Given the description of an element on the screen output the (x, y) to click on. 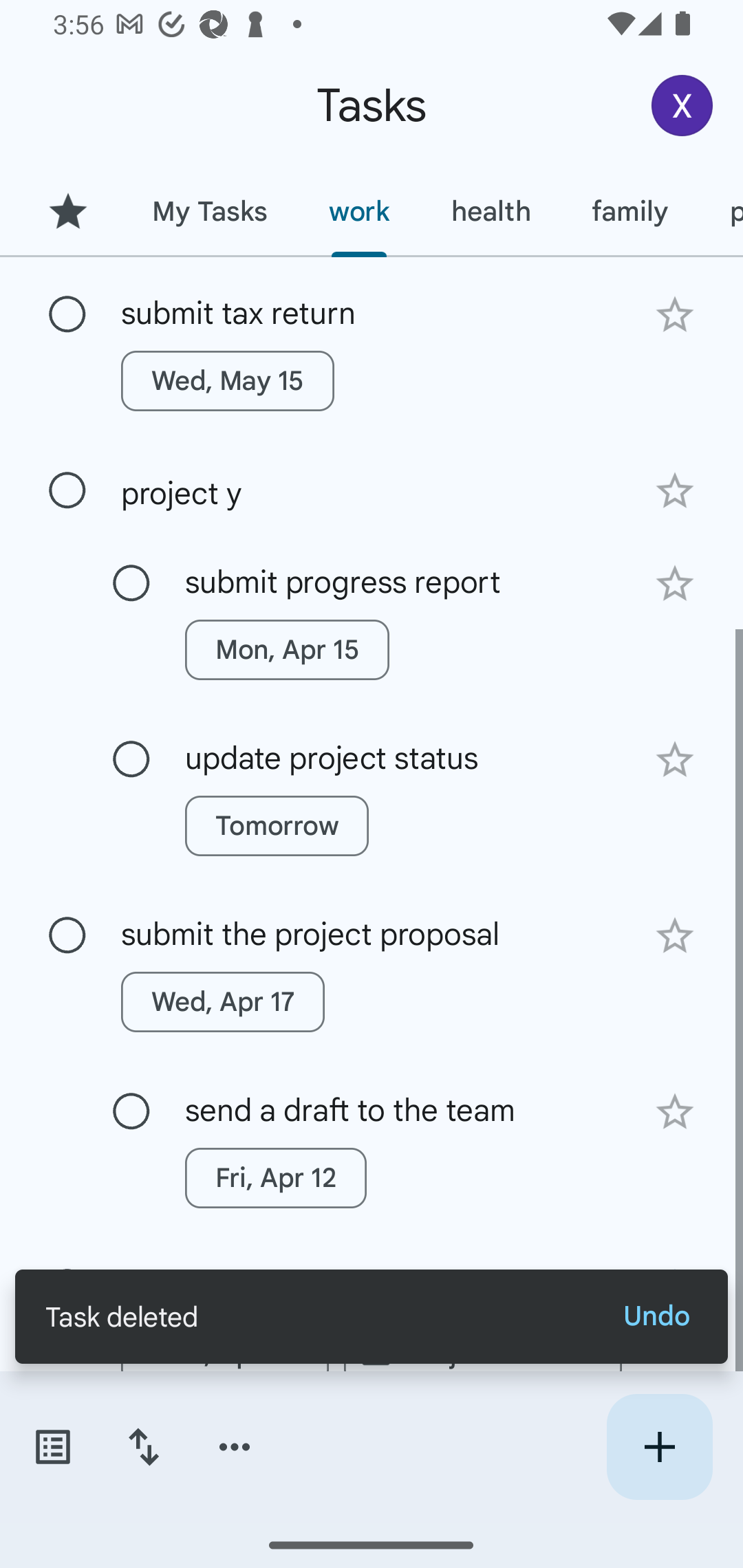
Starred (67, 211)
My Tasks (209, 211)
health (490, 211)
family (629, 211)
Add star (674, 314)
Mark as complete (67, 314)
Wed, May 15 (227, 380)
Add star (674, 490)
Mark as complete (67, 491)
Add star (674, 582)
Mark as complete (131, 583)
Mon, Apr 15 (287, 649)
Add star (674, 760)
Mark as complete (131, 759)
Tomorrow (276, 825)
Add star (674, 935)
Mark as complete (67, 935)
Wed, Apr 17 (222, 1001)
Add star (674, 1111)
Mark as complete (131, 1112)
Fri, Apr 12 (276, 1177)
Undo (656, 1316)
Switch task lists (52, 1447)
Create new task (659, 1446)
Change sort order (143, 1446)
More options (234, 1446)
